Given the description of an element on the screen output the (x, y) to click on. 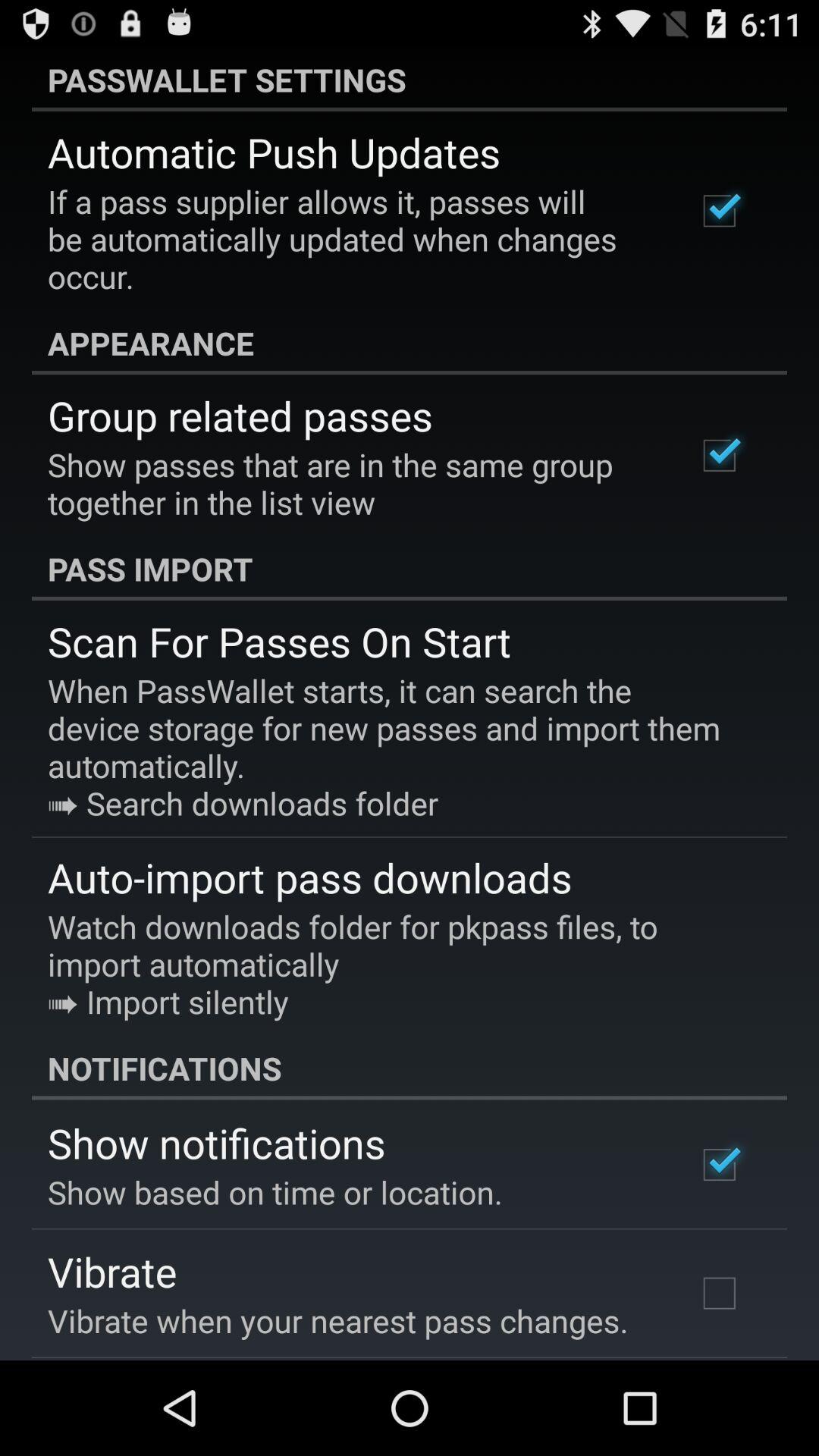
click the appearance app (409, 342)
